Given the description of an element on the screen output the (x, y) to click on. 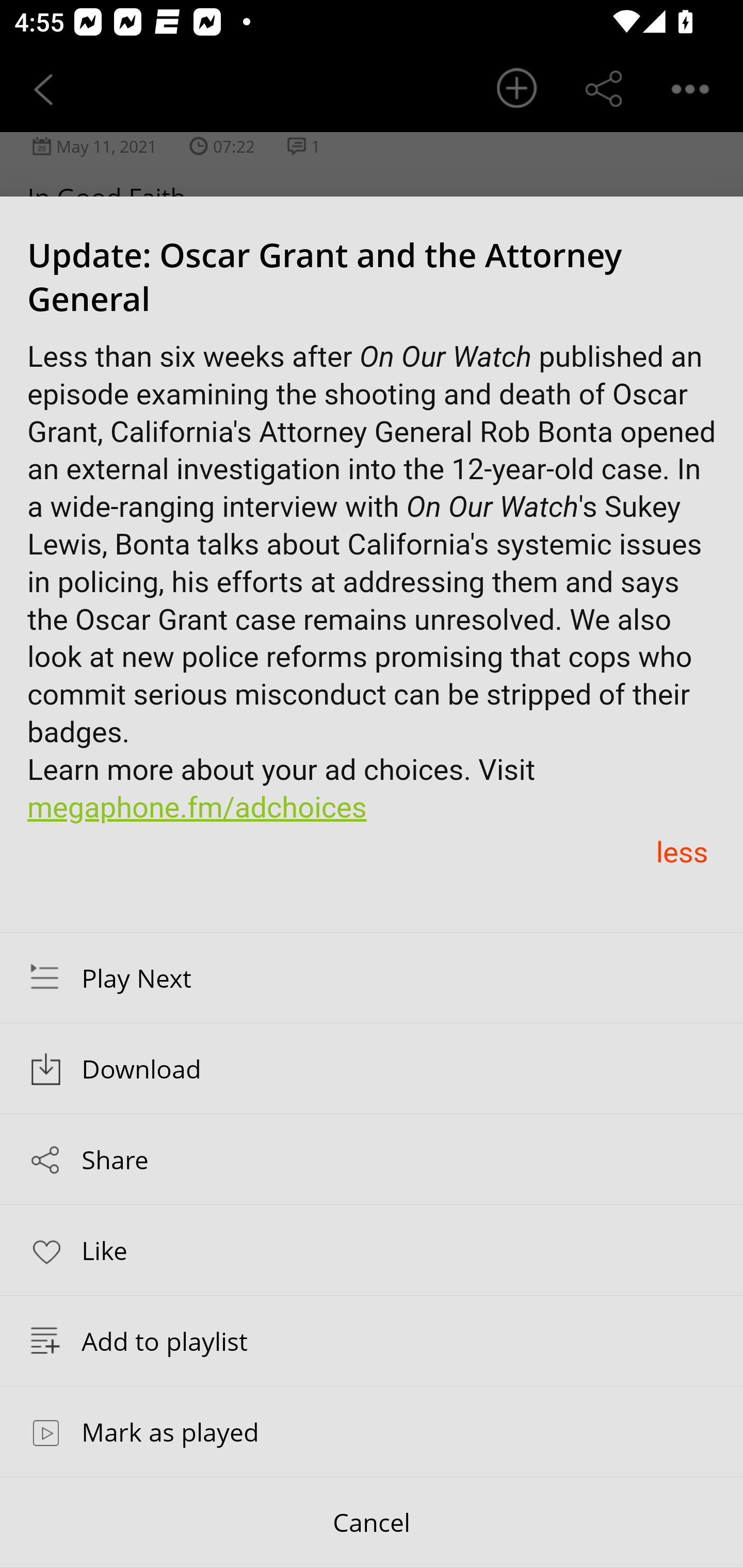
megaphone.fm/adchoices (197, 808)
less (681, 852)
Play Next (371, 977)
Download (371, 1068)
Share (371, 1159)
Like (371, 1249)
Add to playlist (371, 1340)
Mark as played (371, 1431)
Cancel (371, 1522)
